Given the description of an element on the screen output the (x, y) to click on. 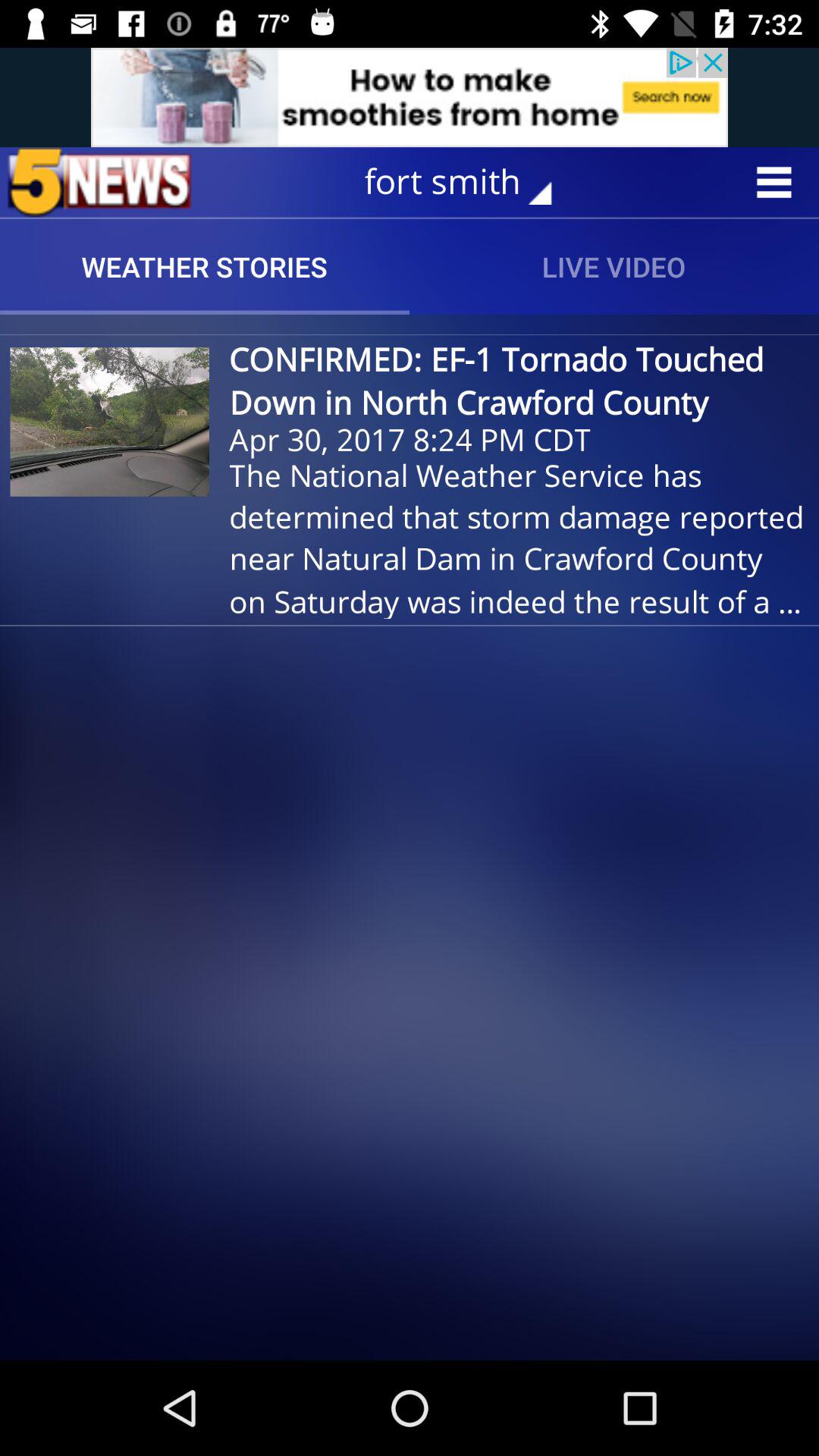
go to main page (99, 182)
